Given the description of an element on the screen output the (x, y) to click on. 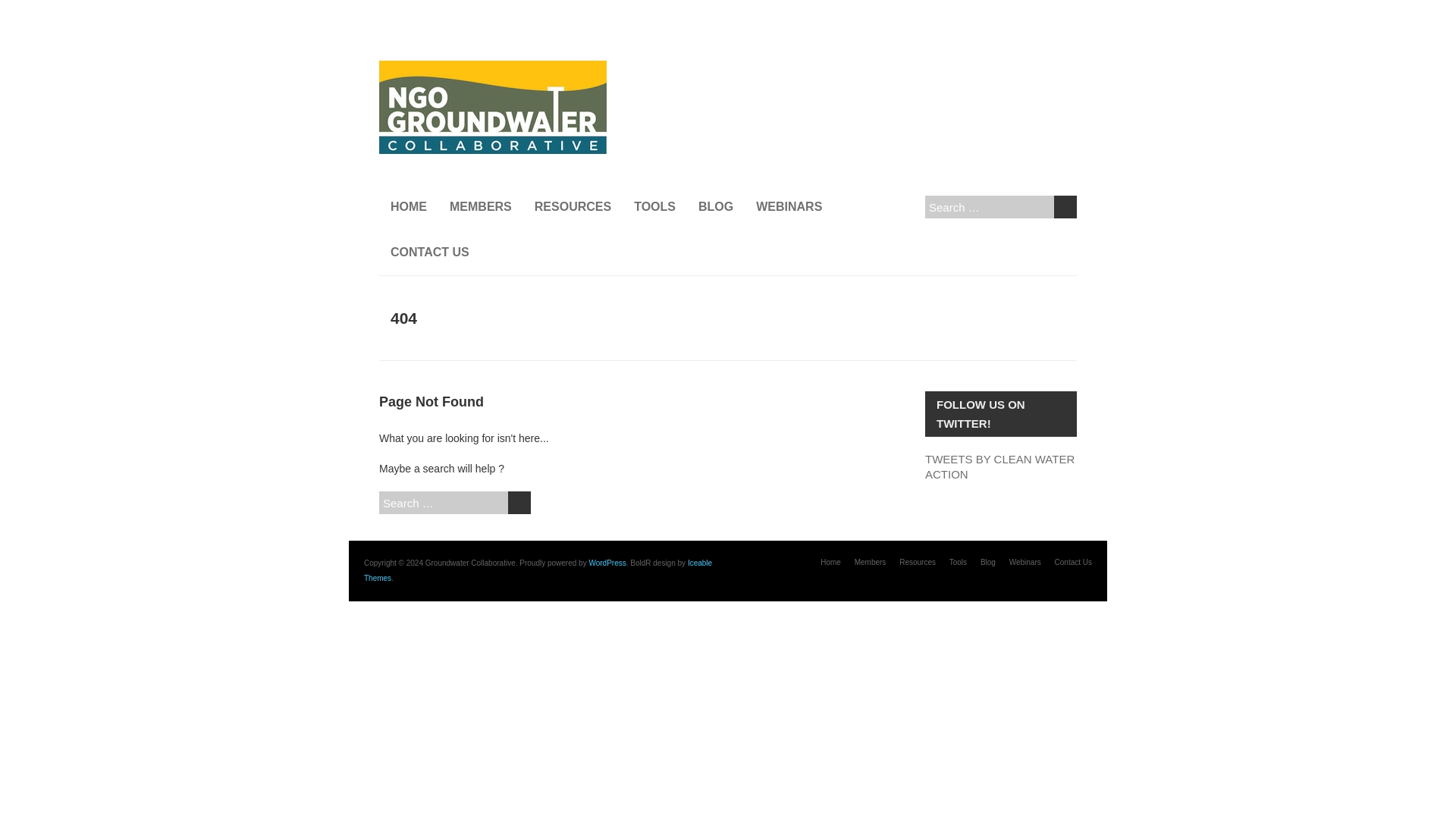
WEBINARS (788, 207)
Groundwater Collaborative (492, 68)
Search (519, 502)
Search (519, 502)
Search (1065, 206)
Search (1065, 206)
Resources (917, 561)
HOME (408, 207)
TWEETS BY CLEAN WATER ACTION (999, 466)
Members (870, 561)
